Given the description of an element on the screen output the (x, y) to click on. 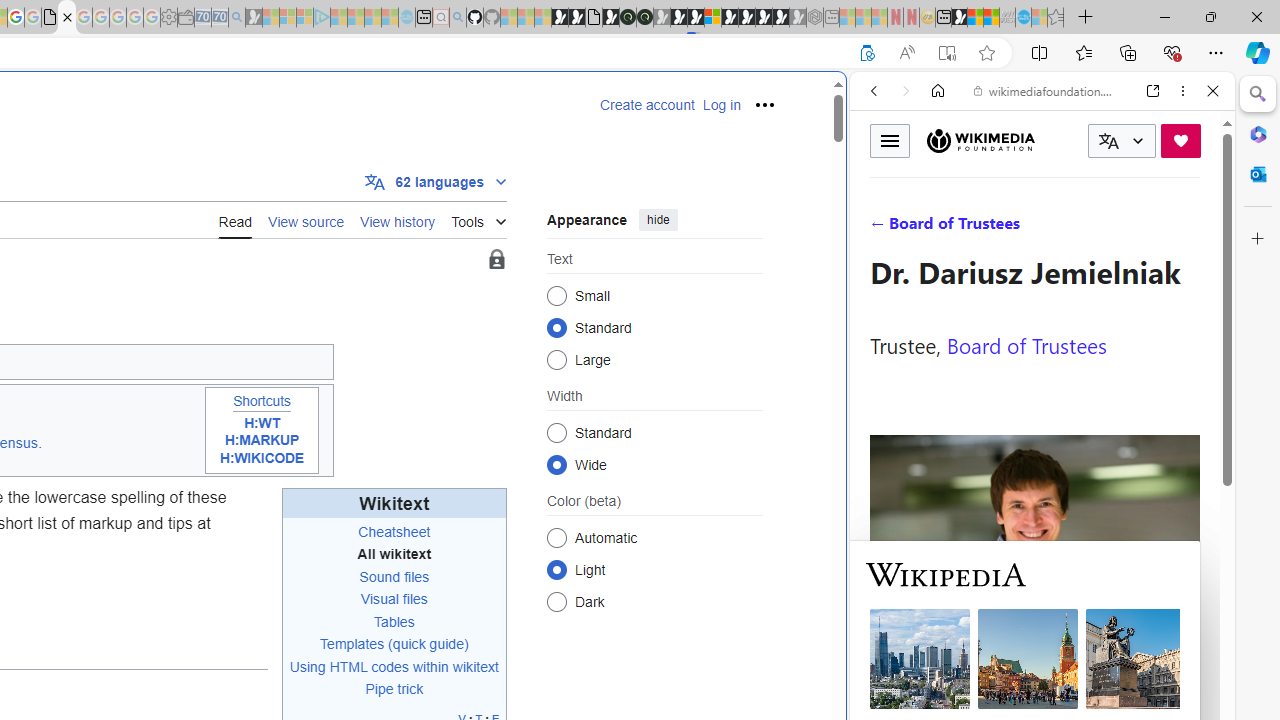
Standard (556, 431)
Settings - Sleeping (168, 17)
Navy Quest (1007, 17)
Light (556, 569)
Templates (quick guide) (394, 643)
Create account (647, 105)
More options (1182, 91)
